Given the description of an element on the screen output the (x, y) to click on. 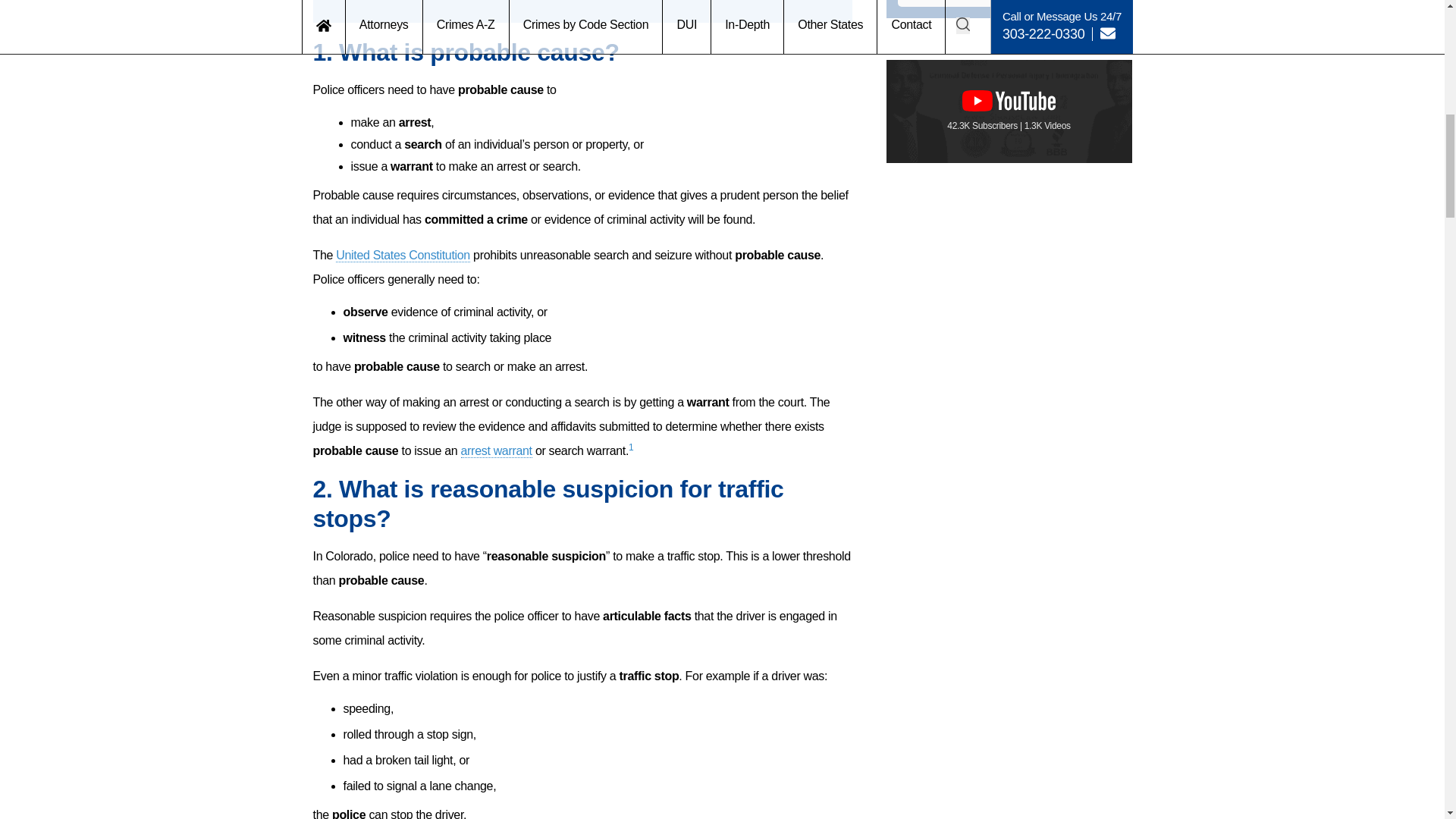
Submit (1009, 3)
